Given the description of an element on the screen output the (x, y) to click on. 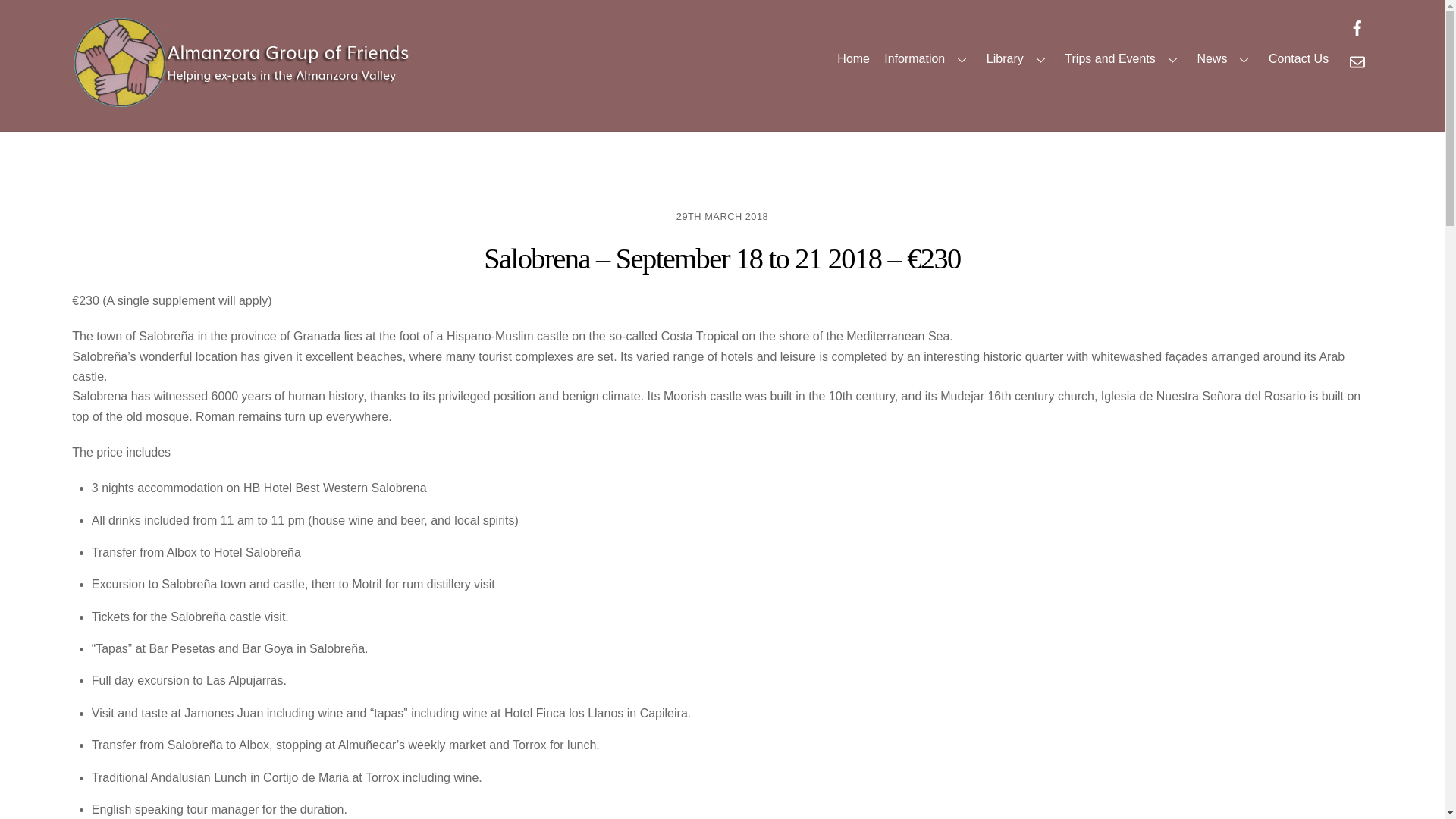
Almanzora Group of Friends (242, 101)
Home (853, 59)
Contact Us (1297, 59)
Information (928, 59)
Library (1018, 59)
News (1225, 59)
Trips and Events (722, 46)
